Given the description of an element on the screen output the (x, y) to click on. 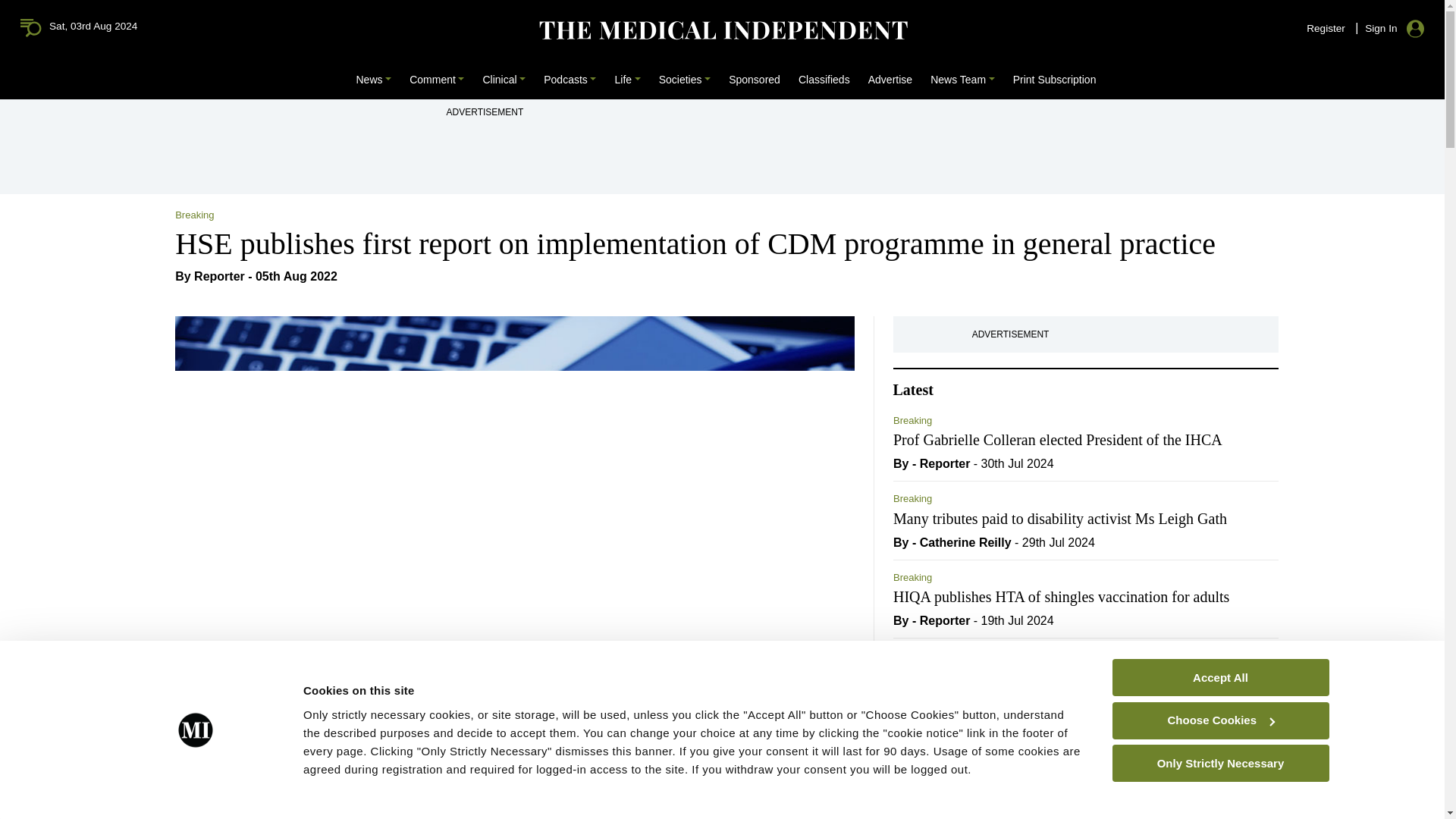
The Medical Independent (721, 30)
medical independent (34, 30)
